Given the description of an element on the screen output the (x, y) to click on. 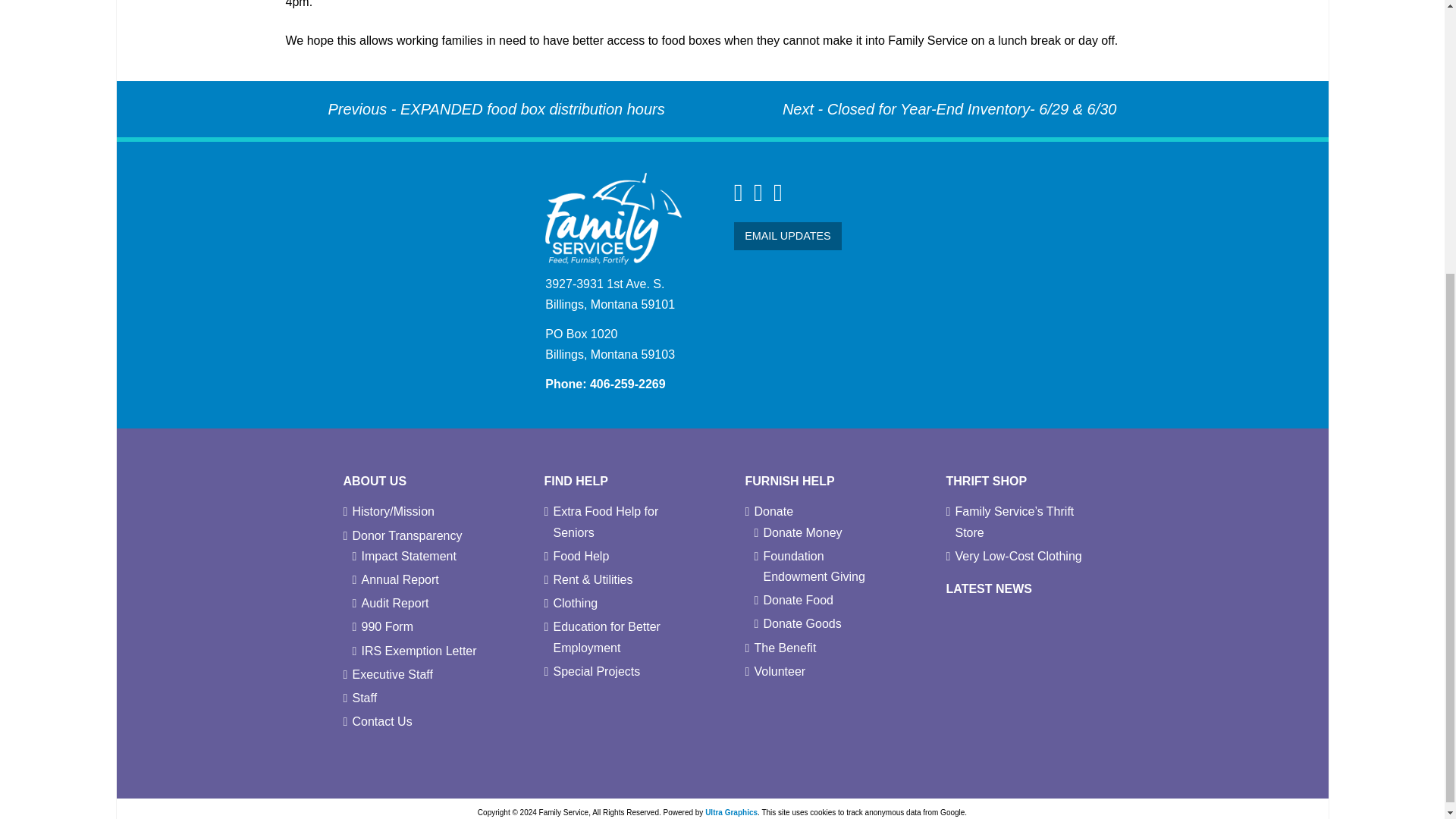
About Billings Family Service (374, 481)
Donor Transparency (406, 535)
Family Service Home Page (612, 217)
Choose your email communication preferences (787, 235)
Previous - EXPANDED food box distribution hours (495, 108)
